Given the description of an element on the screen output the (x, y) to click on. 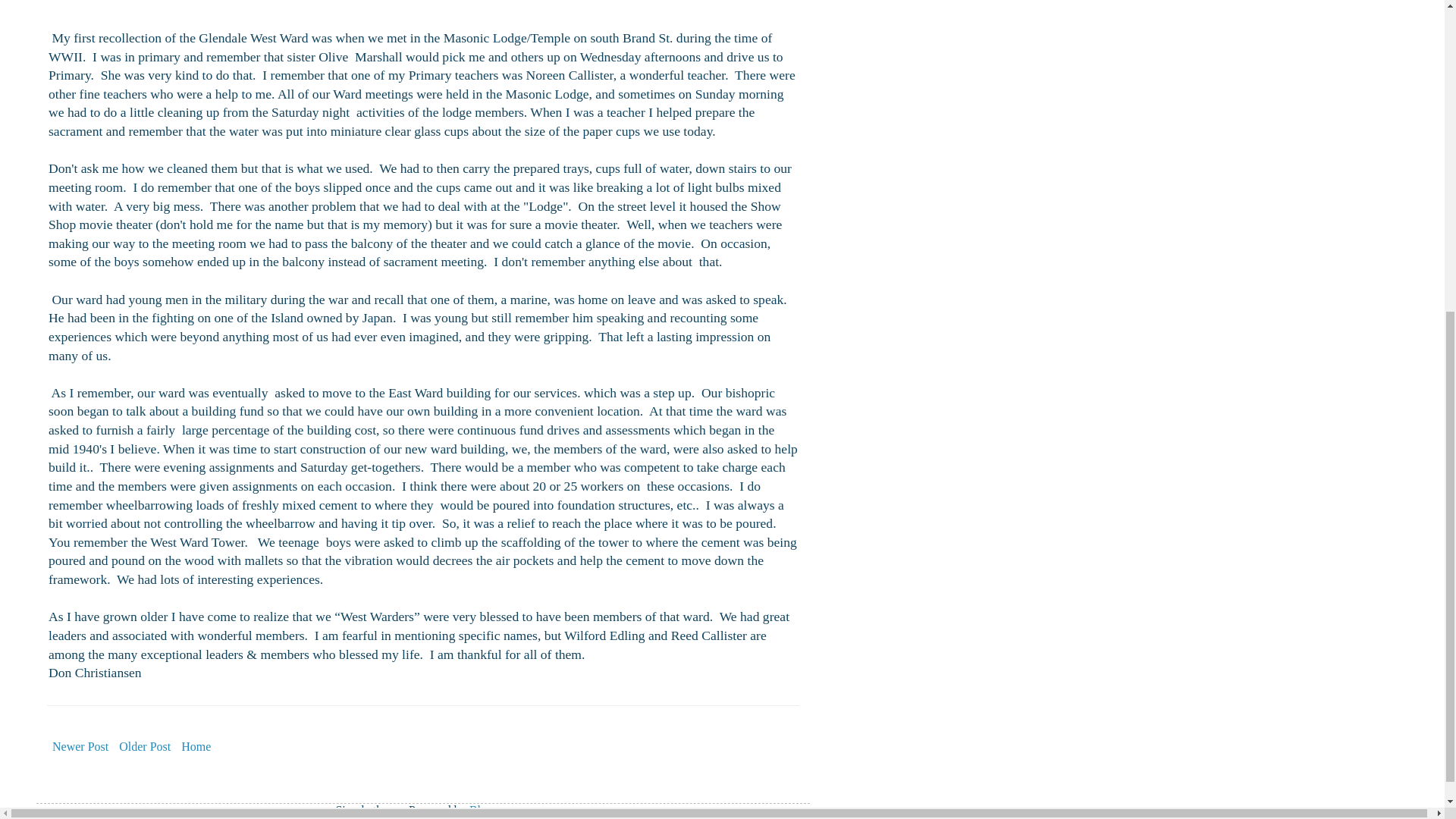
Blogger (488, 809)
Newer Post (80, 746)
Newer Post (80, 746)
Older Post (144, 746)
Older Post (144, 746)
Home (195, 746)
